Given the description of an element on the screen output the (x, y) to click on. 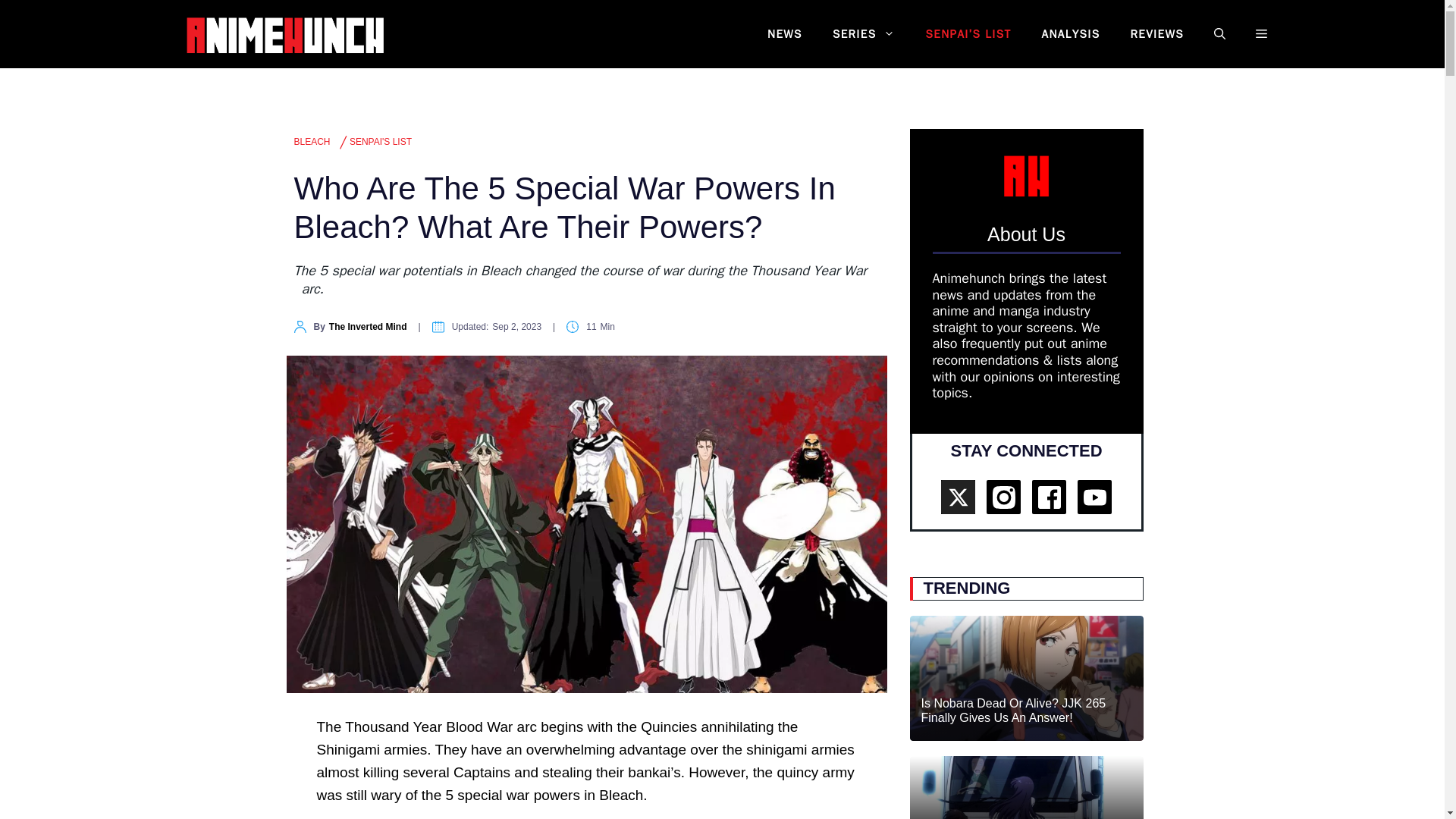
NEWS (784, 34)
REVIEWS (1156, 34)
SERIES (863, 34)
ANALYSIS (1070, 34)
